Given the description of an element on the screen output the (x, y) to click on. 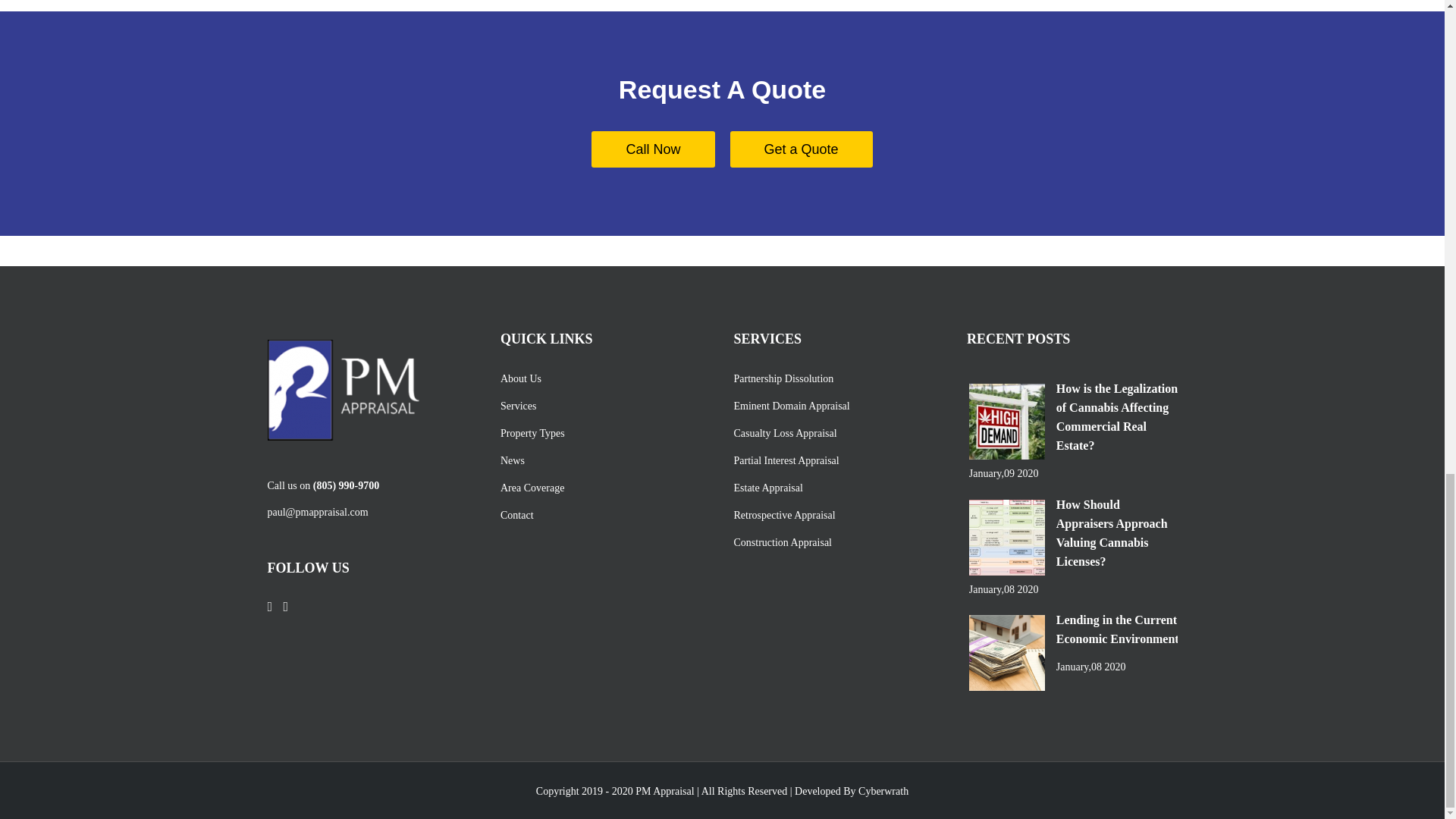
Eminent Domain Appraisal (835, 406)
Casualty Loss Appraisal (835, 433)
Partial Interest Appraisal (835, 460)
Area Coverage (601, 487)
Call Now (652, 149)
About Us (601, 378)
Get a Quote (800, 149)
News (601, 460)
Services (601, 406)
Contact (601, 514)
